Given the description of an element on the screen output the (x, y) to click on. 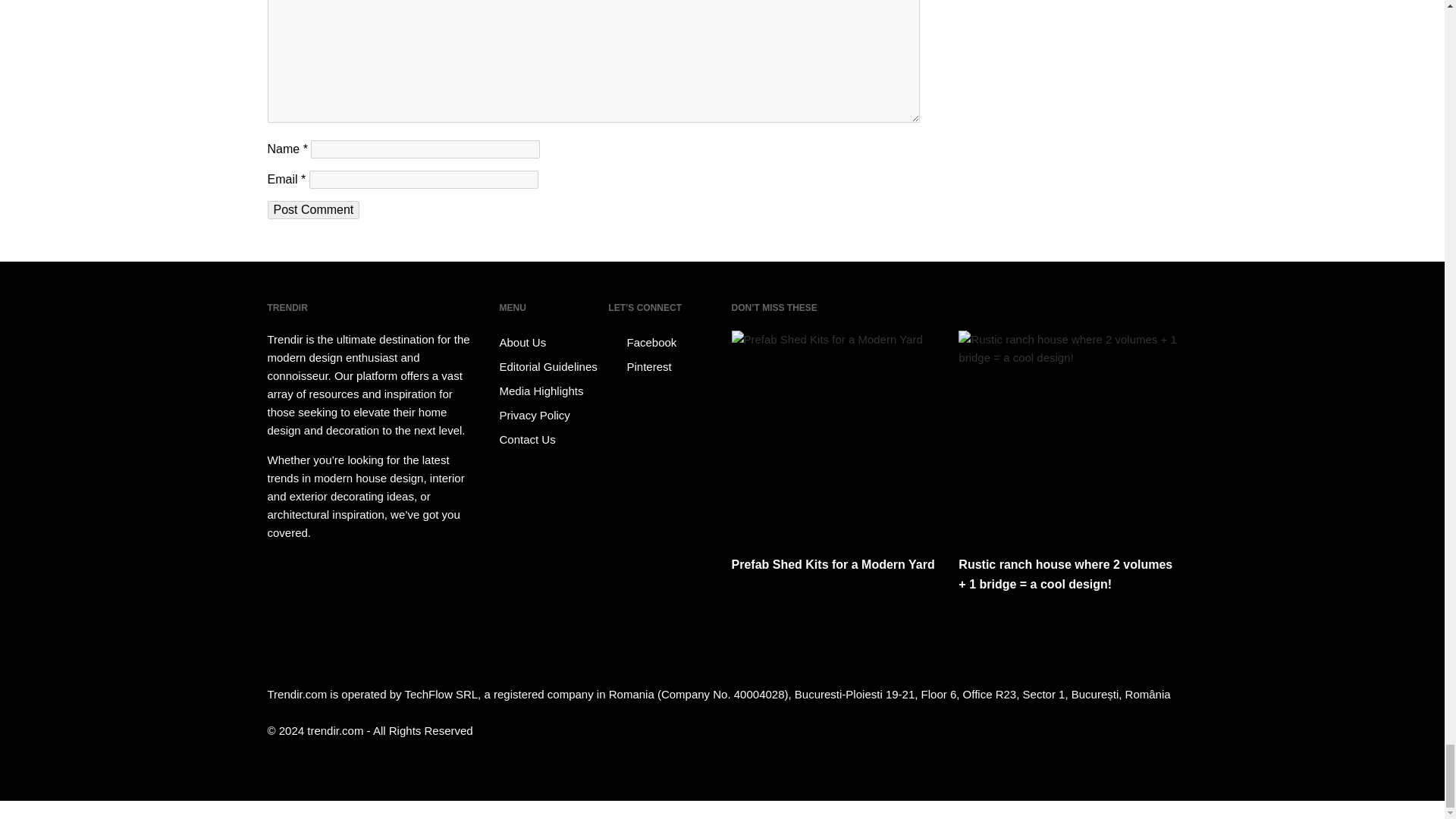
Post Comment (312, 209)
